Given the description of an element on the screen output the (x, y) to click on. 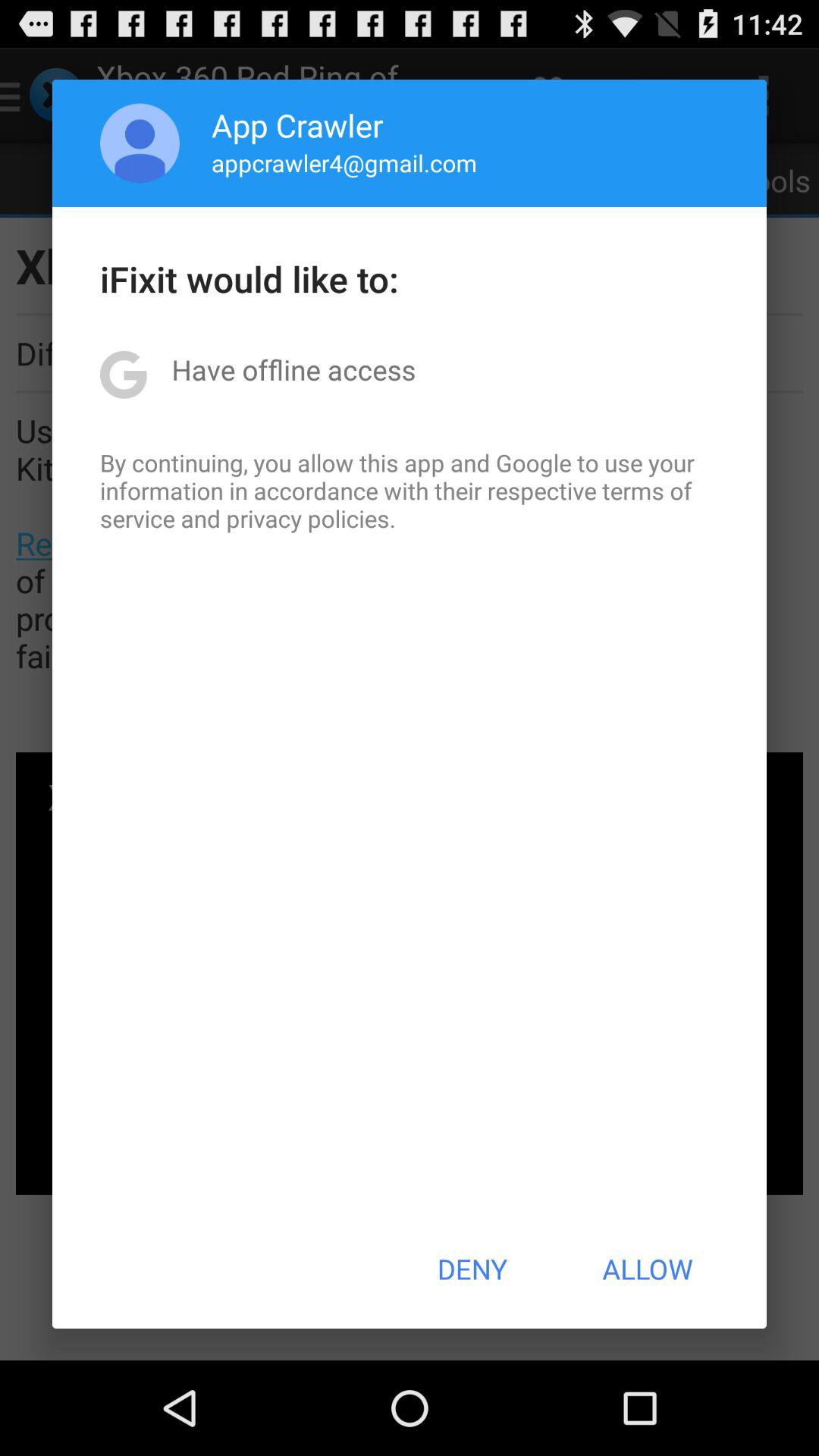
open the icon to the left of allow (471, 1268)
